Given the description of an element on the screen output the (x, y) to click on. 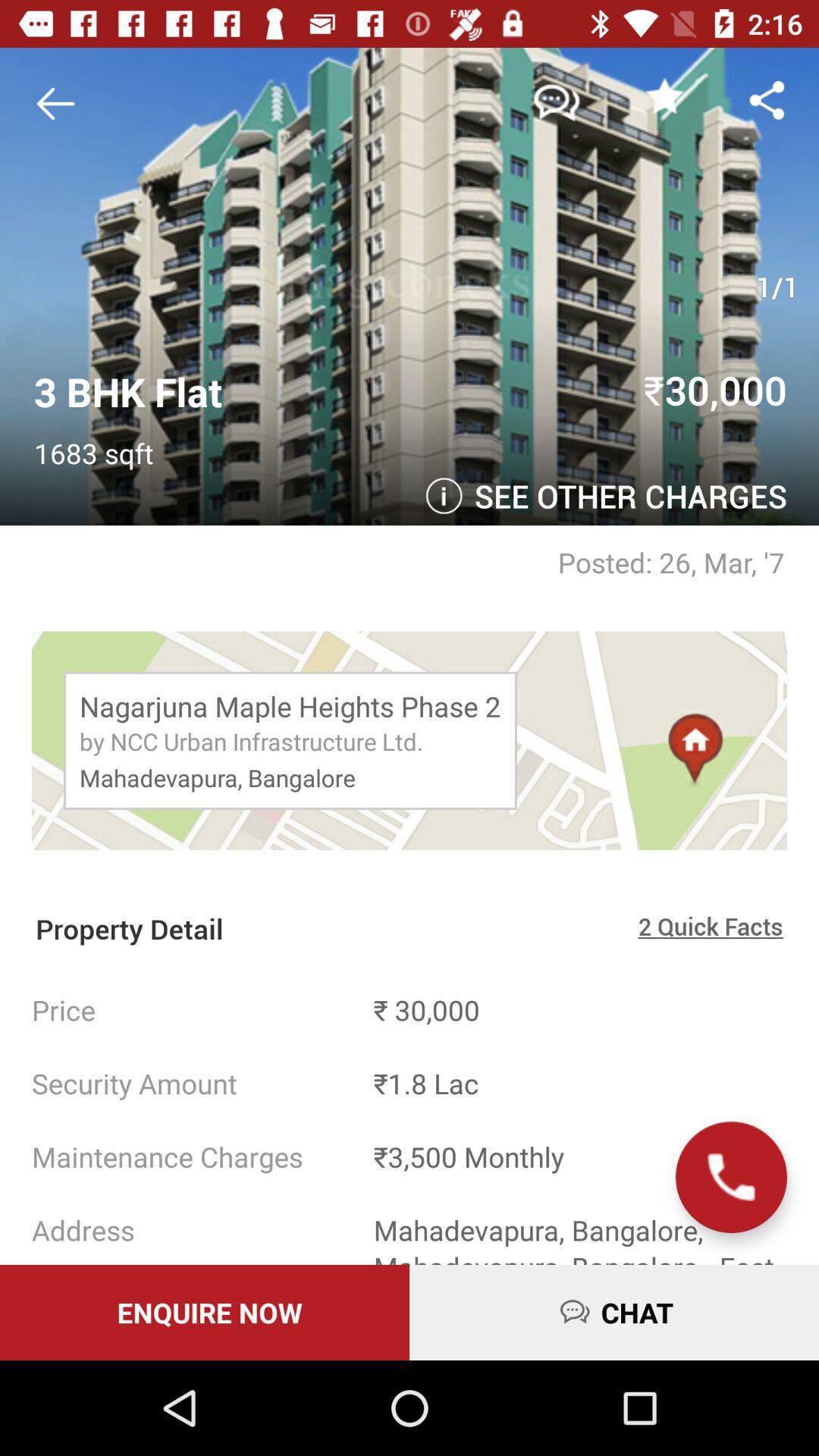
share listing (766, 99)
